Given the description of an element on the screen output the (x, y) to click on. 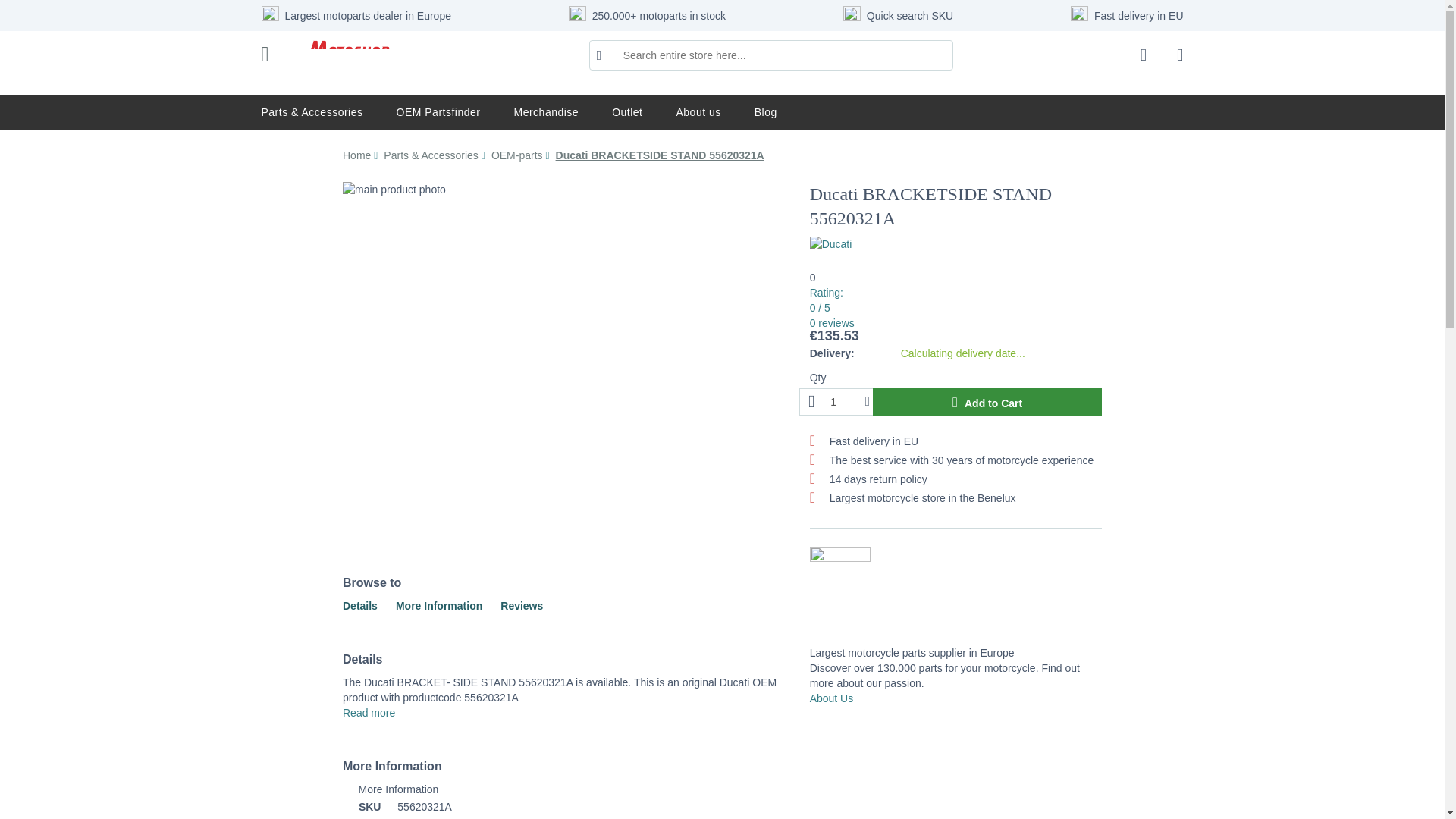
Go to Home Page (358, 155)
1 (839, 401)
My Cart (1179, 56)
Qty (839, 401)
Search (599, 55)
Add to Cart (987, 401)
Ducati (830, 243)
Webshop Motoshop Europe (348, 55)
Search (599, 55)
Ducati (830, 244)
